Given the description of an element on the screen output the (x, y) to click on. 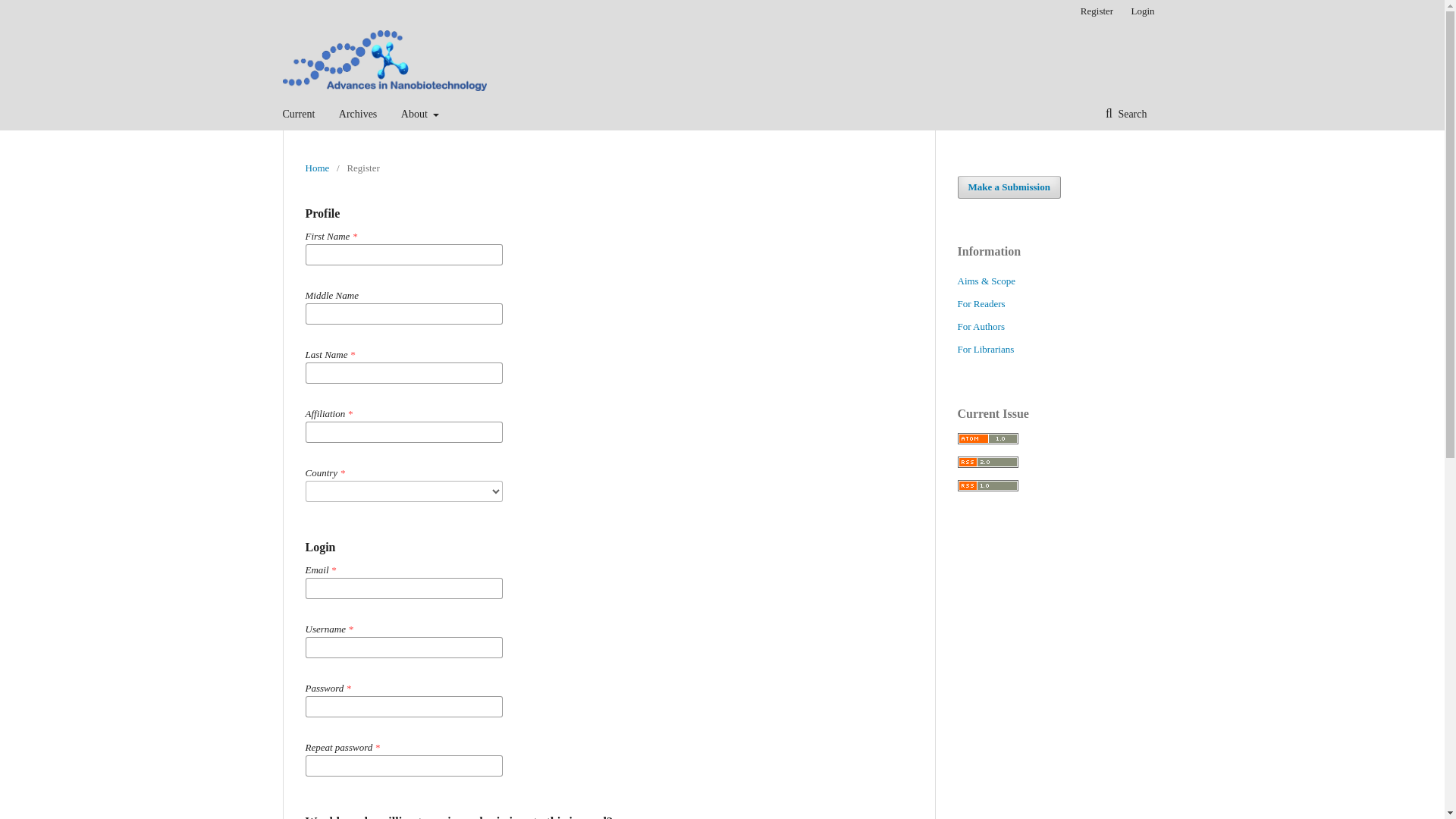
Current (298, 114)
Home (316, 168)
Register (1097, 11)
Search (1125, 114)
Make a Submission (1007, 187)
For Authors (980, 326)
Archives (358, 114)
Login (1138, 11)
For Readers (980, 303)
For Librarians (984, 348)
About (420, 114)
